Given the description of an element on the screen output the (x, y) to click on. 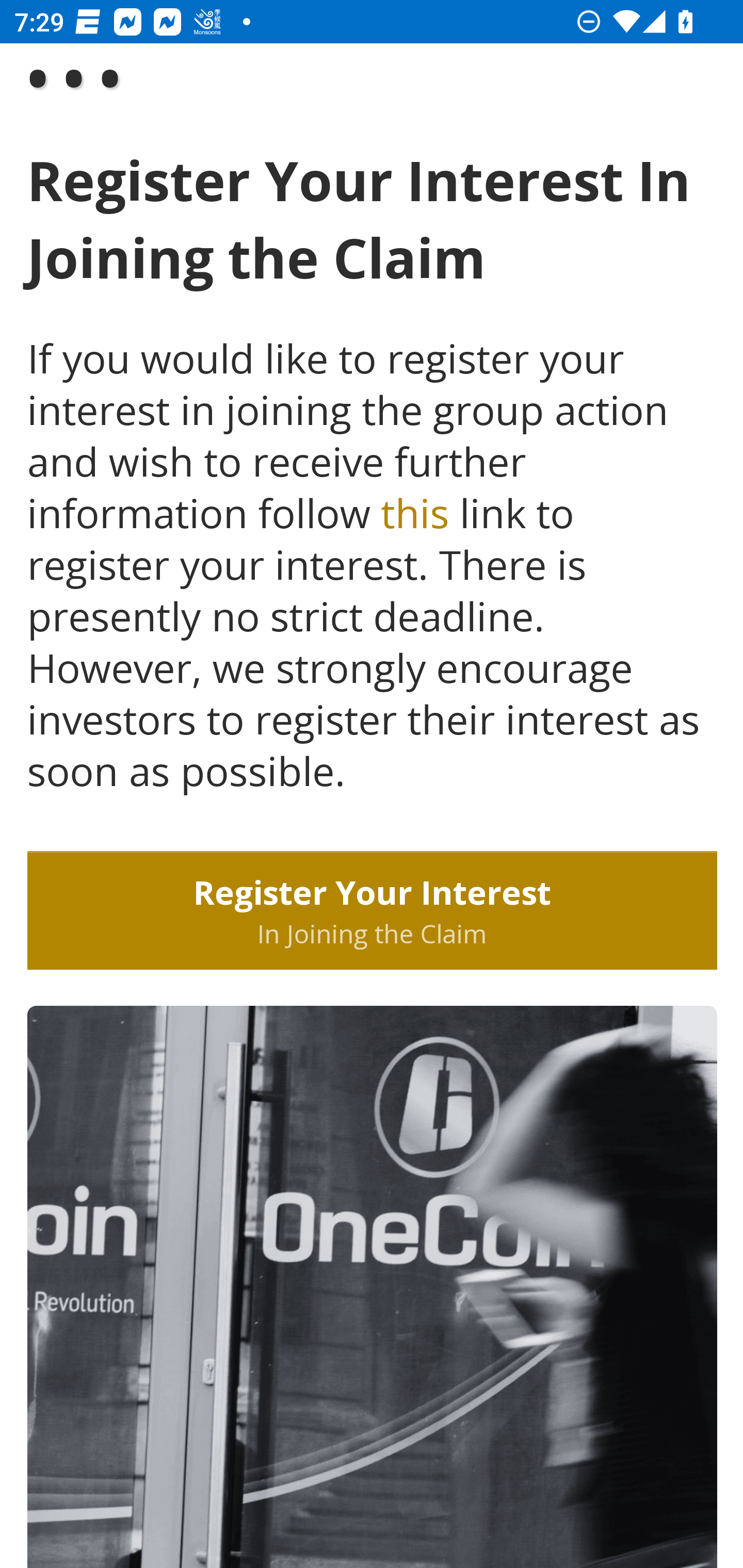
this  (418, 514)
